Given the description of an element on the screen output the (x, y) to click on. 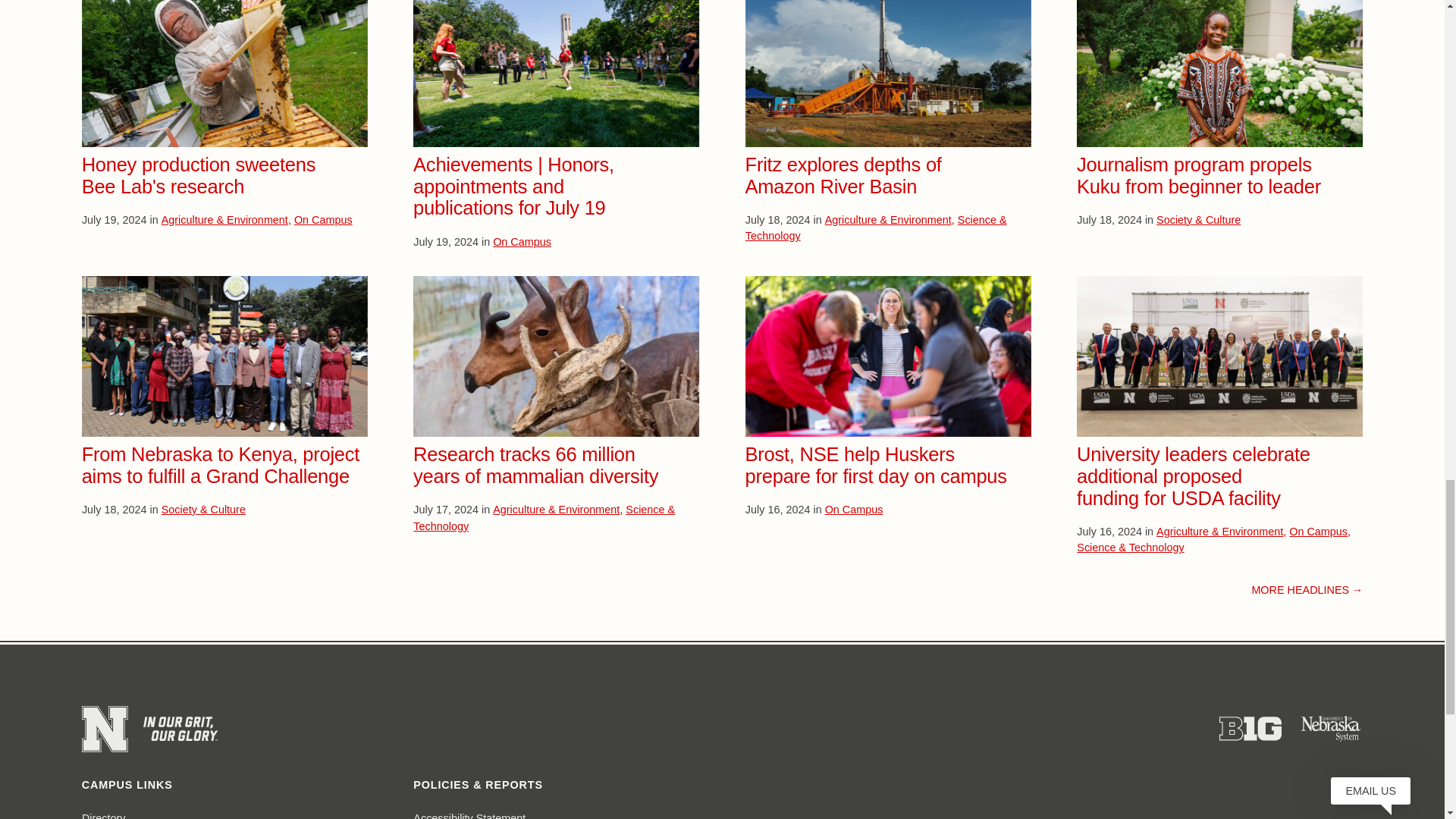
Honey production sweetens Bee Lab's research (198, 175)
On Campus (522, 241)
On Campus (323, 219)
Fritz explores depths of Amazon River Basin (843, 175)
